Given the description of an element on the screen output the (x, y) to click on. 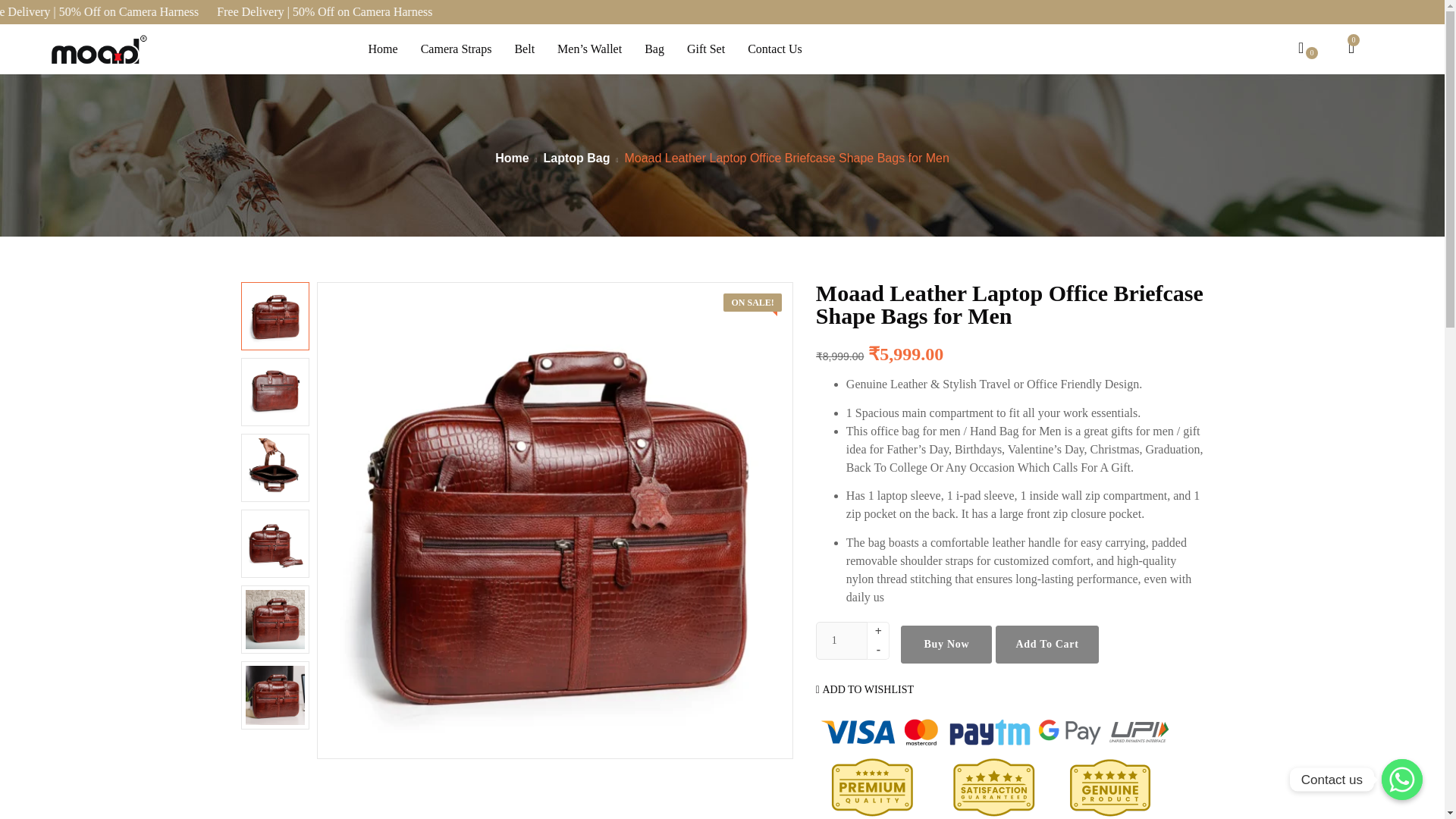
- (877, 650)
Home (511, 158)
Contact Us (774, 48)
Belt (524, 48)
Camera Straps (456, 48)
Laptop Bag (576, 158)
Gift Set (705, 48)
1 (845, 640)
Home (382, 48)
Bag (654, 48)
